Given the description of an element on the screen output the (x, y) to click on. 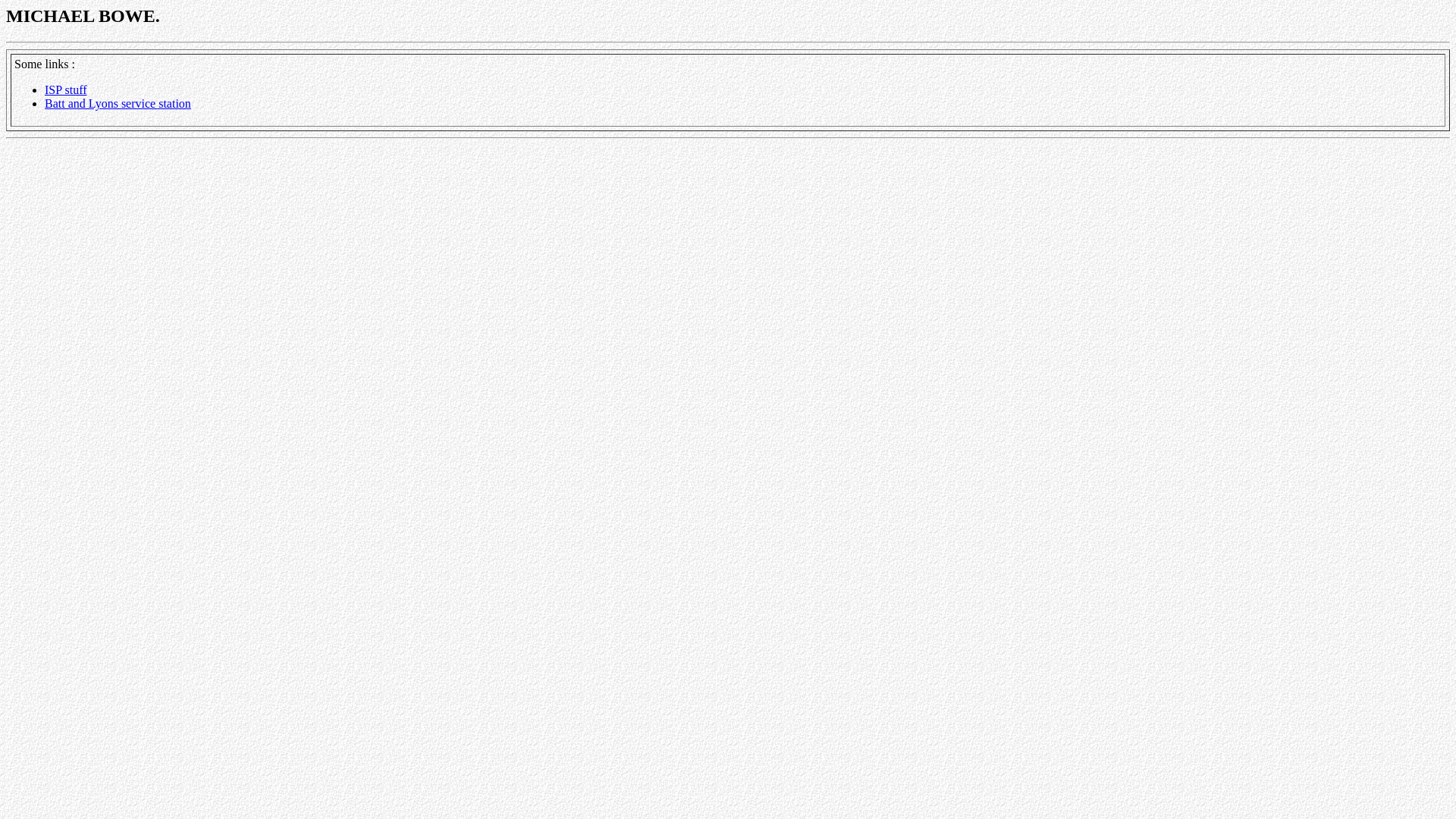
ISP stuff Element type: text (65, 89)
Batt and Lyons service station Element type: text (117, 103)
